Given the description of an element on the screen output the (x, y) to click on. 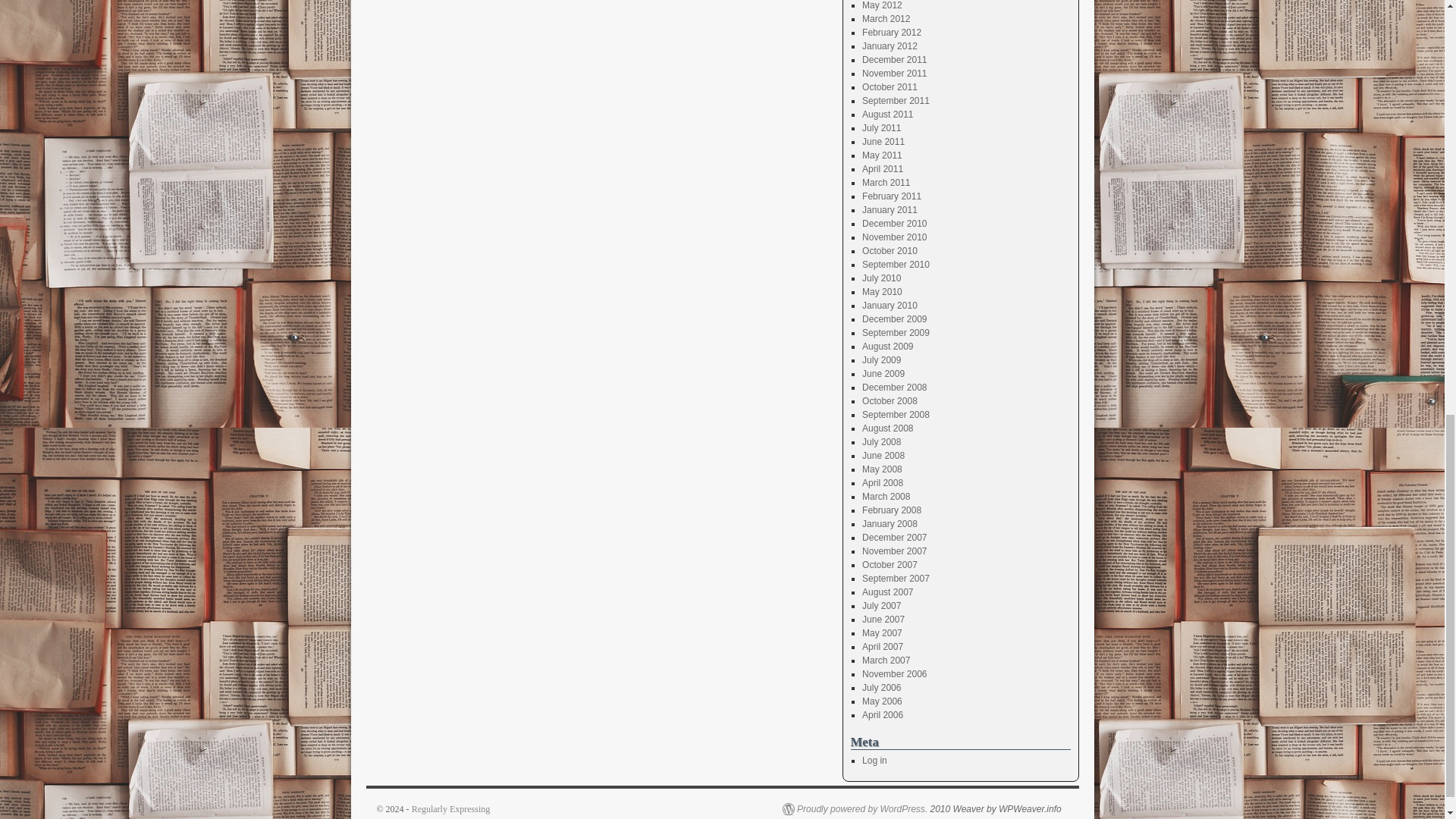
Semantic Personal Publishing Platform (855, 808)
Regularly Expressing (451, 808)
